Given the description of an element on the screen output the (x, y) to click on. 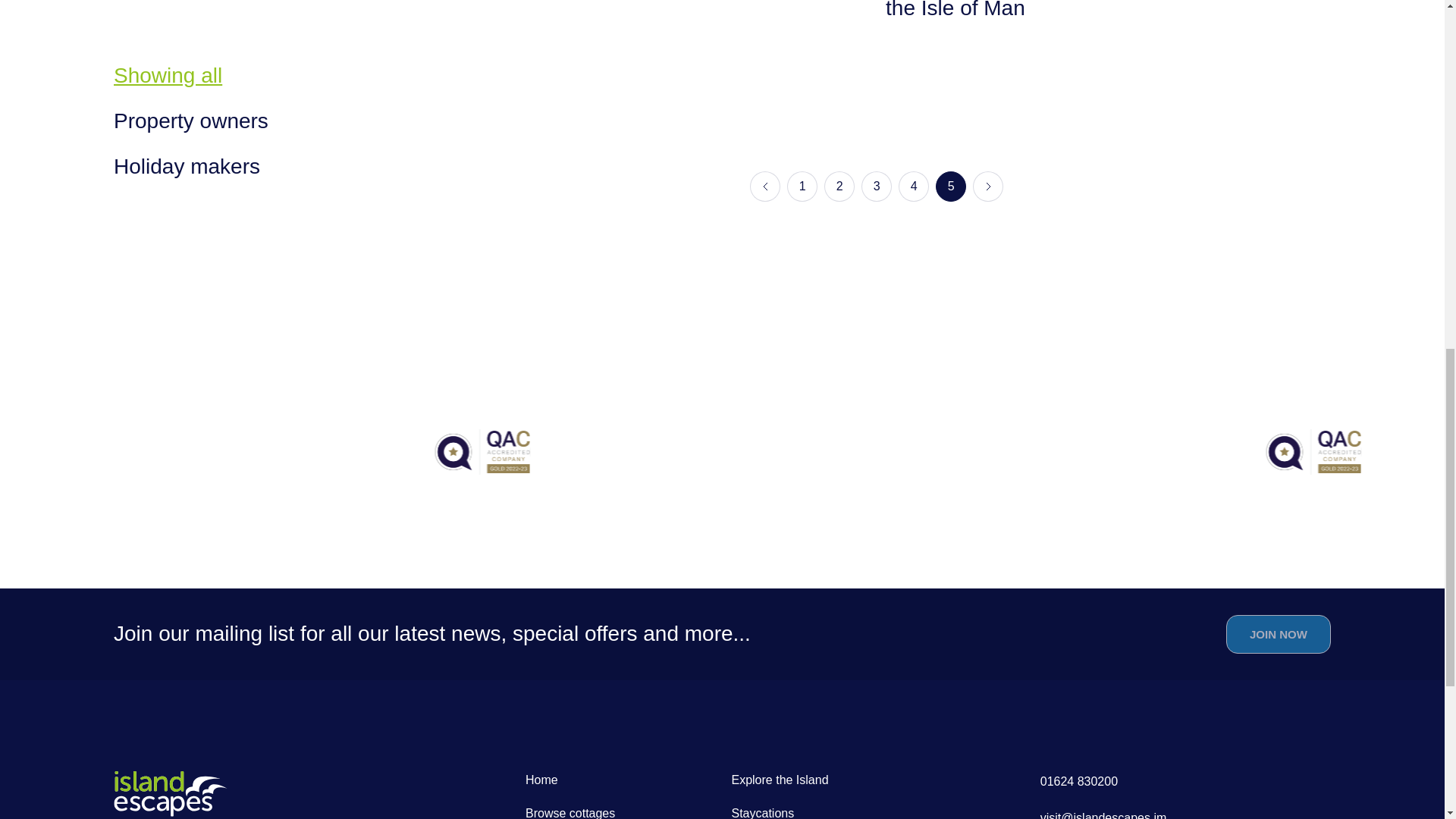
Home (541, 779)
2 (839, 186)
5 (951, 186)
Explore the Island (779, 779)
JOIN NOW (1277, 634)
1 (801, 186)
Staycations (761, 812)
3 (876, 186)
4 (913, 186)
